Given the description of an element on the screen output the (x, y) to click on. 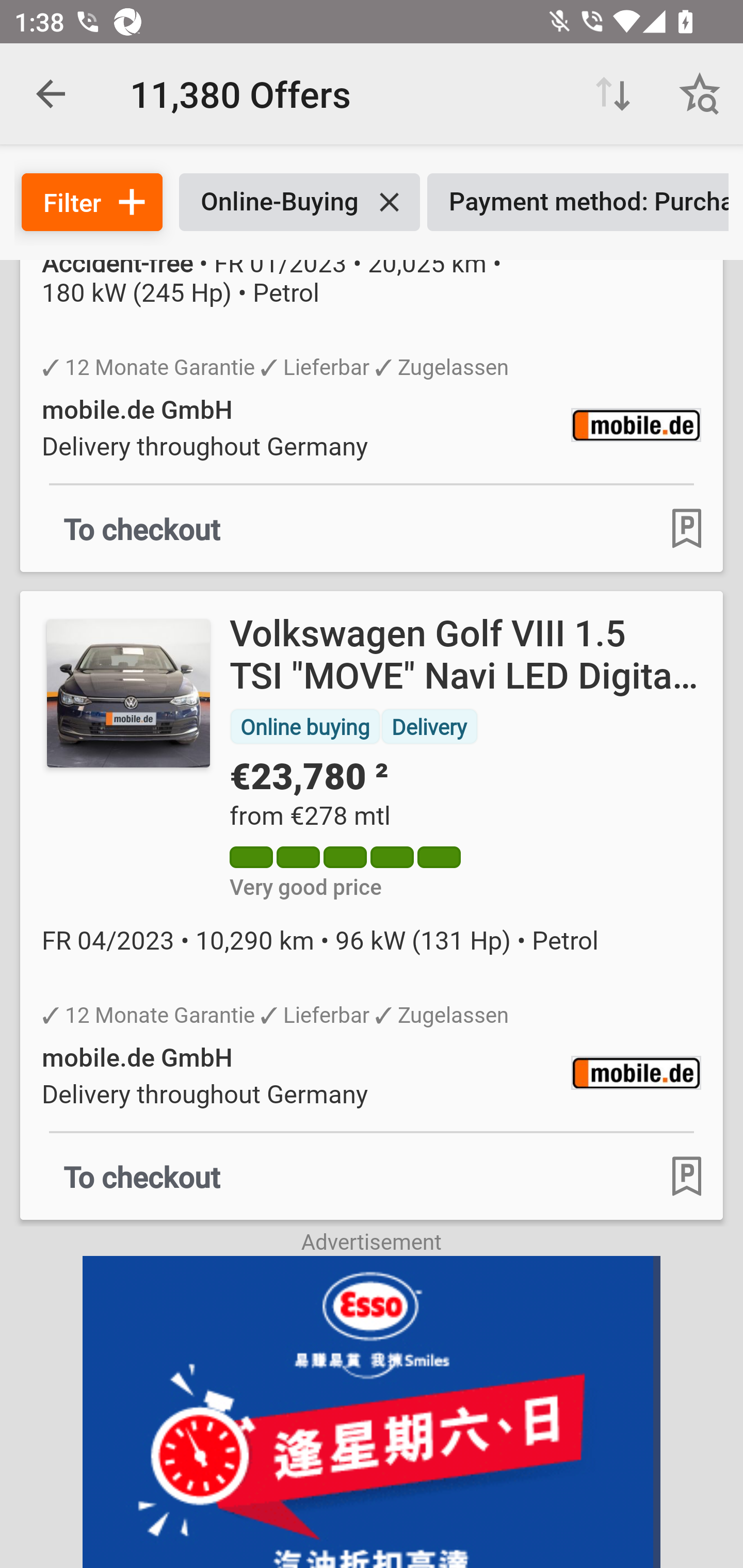
Navigate up (50, 93)
Sort options (612, 93)
Save search (699, 93)
Online-Buying Remove Online-Buying (299, 202)
Payment method: Purchase (577, 202)
Filter (91, 202)
To checkout (142, 528)
To checkout (142, 1175)
m2d01ngf_320x480 (371, 1411)
